Given the description of an element on the screen output the (x, y) to click on. 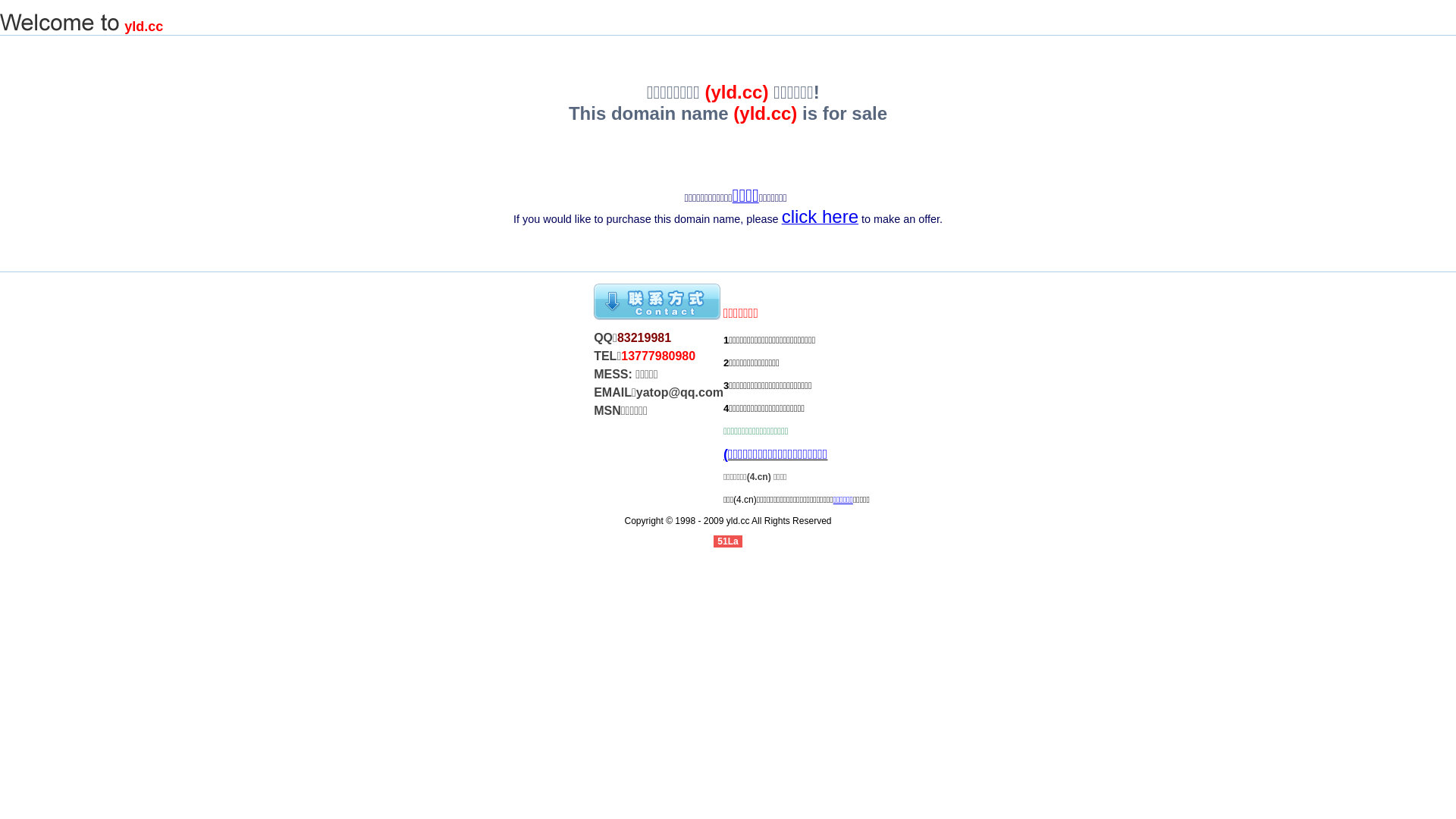
51La Element type: text (727, 541)
click here Element type: text (819, 219)
